Given the description of an element on the screen output the (x, y) to click on. 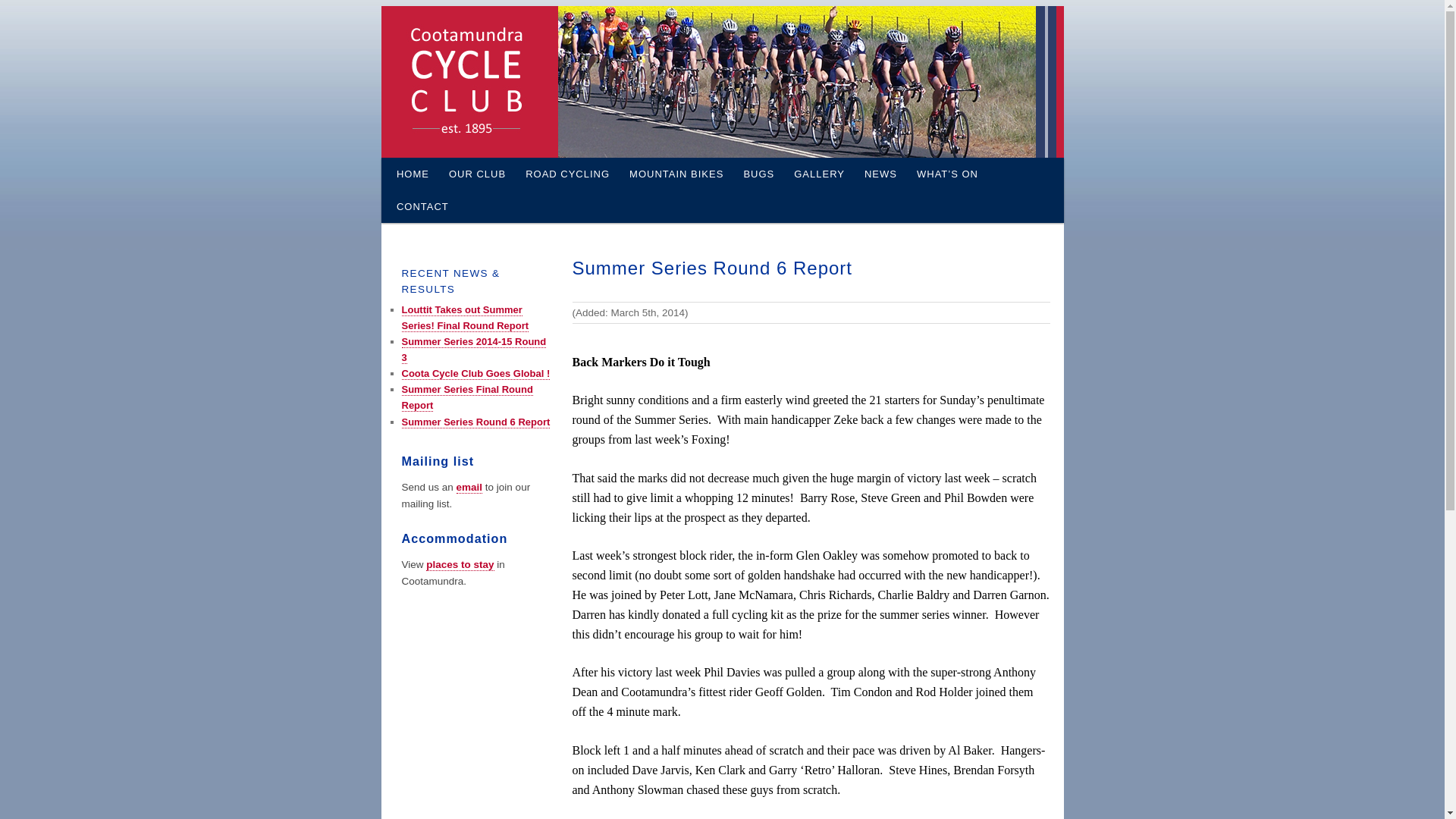
GALLERY Element type: text (819, 173)
Coota Cycle Club Goes Global ! Element type: text (475, 373)
NEWS Element type: text (880, 173)
places to stay Element type: text (459, 564)
Louttit Takes out Summer Series! Final Round Report Element type: text (465, 318)
MOUNTAIN BIKES Element type: text (676, 173)
HOME Element type: text (412, 173)
email Element type: text (469, 487)
CONTACT Element type: text (422, 206)
SKIP TO PRIMARY CONTENT Element type: text (405, 157)
ROAD CYCLING Element type: text (567, 173)
Summer Series 2014-15 Round 3 Element type: text (473, 349)
Summer Series Final Round Report Element type: text (467, 397)
Summer Series Round 6 Report Element type: text (475, 422)
BUGS Element type: text (758, 173)
OUR CLUB Element type: text (477, 173)
